Given the description of an element on the screen output the (x, y) to click on. 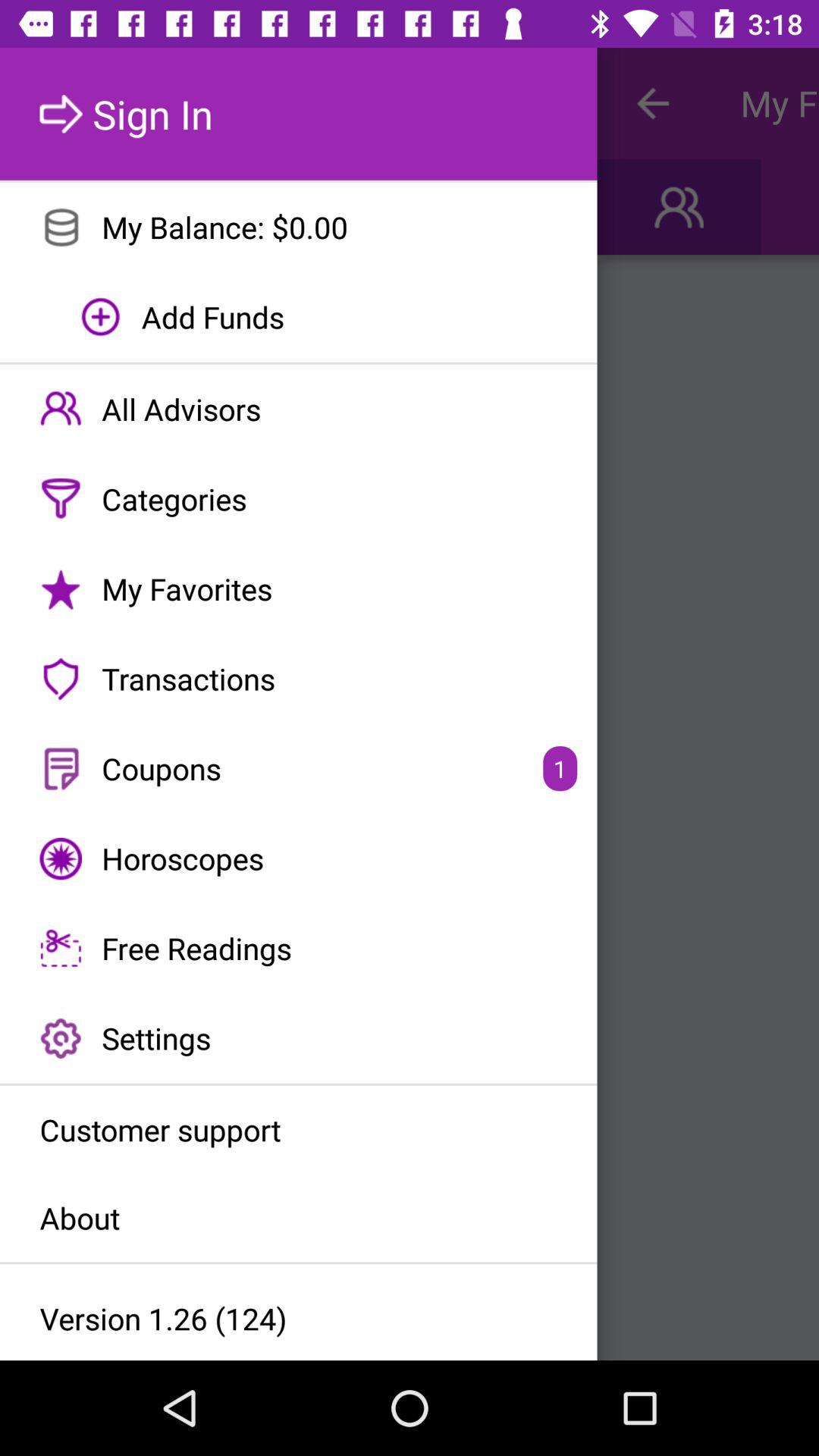
select the icon above the coupons item (298, 679)
